Given the description of an element on the screen output the (x, y) to click on. 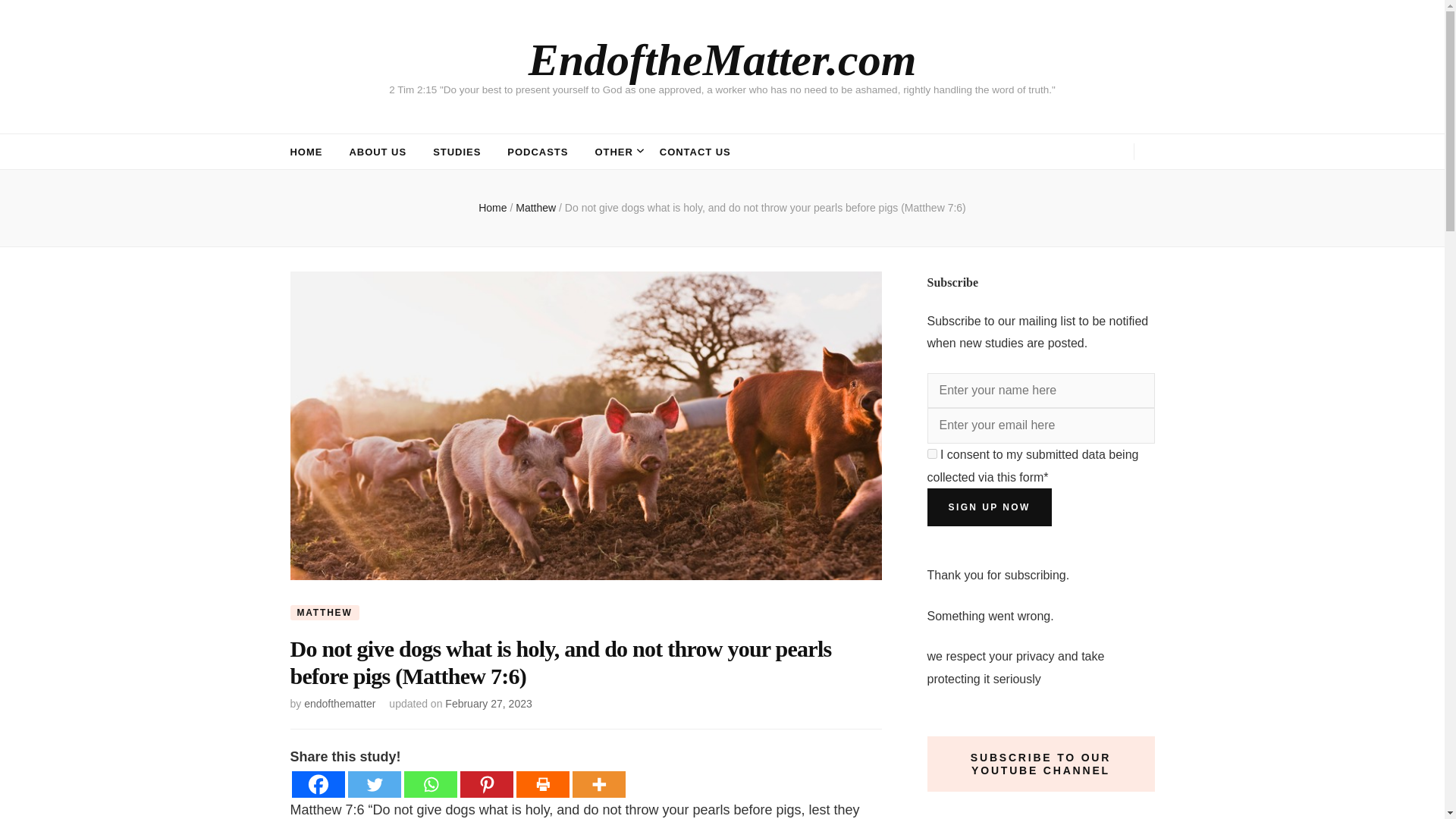
Matthew (537, 207)
PODCASTS (536, 151)
STUDIES (456, 151)
OTHER (612, 151)
February 27, 2023 (488, 703)
Enter your name here (1040, 390)
CONTACT US (694, 151)
EndoftheMatter.com (722, 60)
on (931, 453)
Home (492, 207)
